Given the description of an element on the screen output the (x, y) to click on. 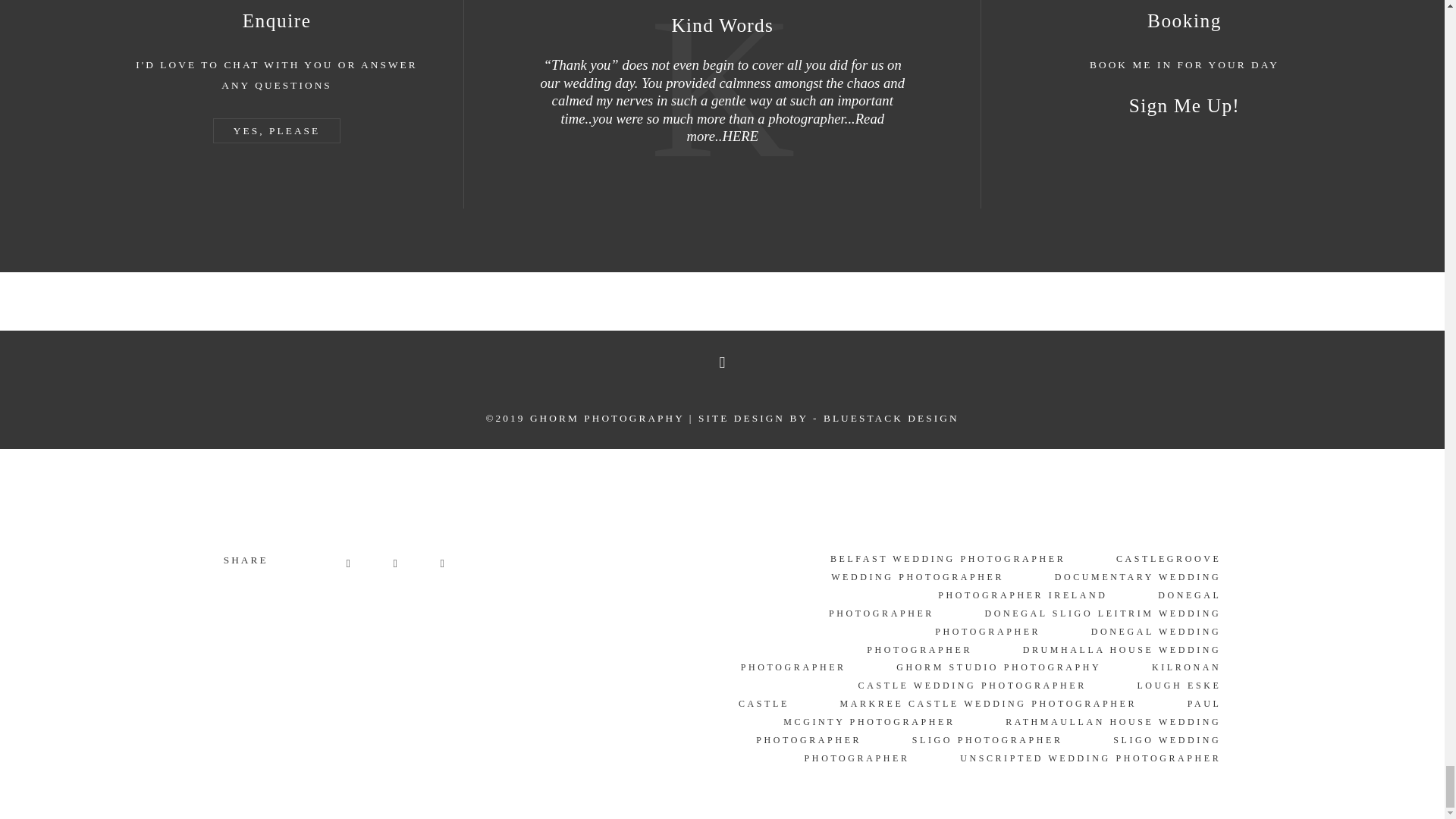
Sign Me Up! (1184, 105)
HERE (740, 135)
CASTLEGROOVE WEDDING PHOTOGRAPHER (1026, 567)
BLUESTACK DESIGN (891, 418)
BELFAST WEDDING PHOTOGRAPHER (947, 558)
YES, PLEASE (276, 130)
